Given the description of an element on the screen output the (x, y) to click on. 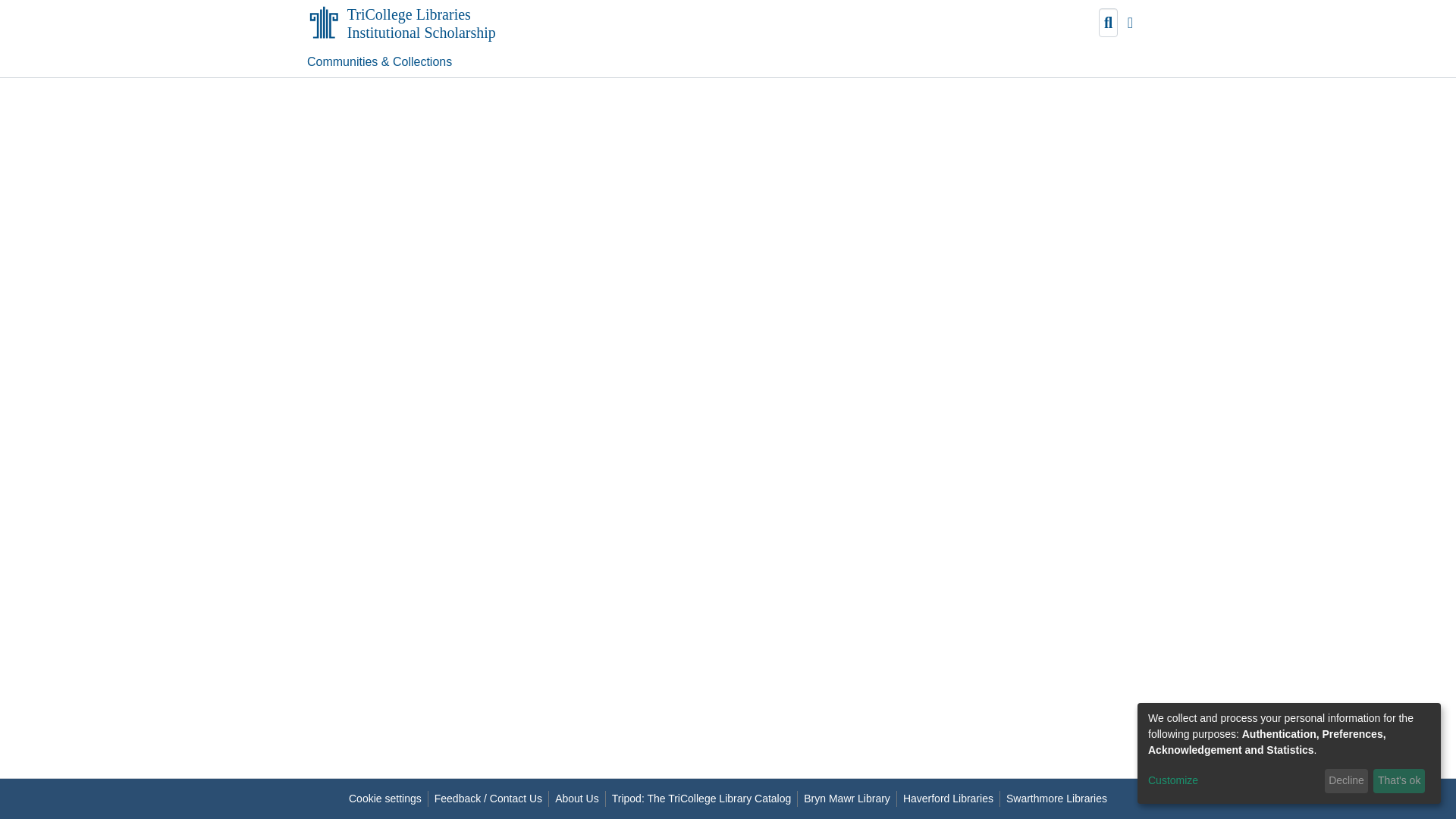
That's ok (1399, 781)
Search (1108, 23)
Customize (1233, 780)
About Us (576, 798)
Swarthmore Libraries (1056, 798)
Bryn Mawr Library (846, 798)
Tripod: The TriCollege Library Catalog (701, 798)
Decline (1346, 781)
Cookie settings (385, 798)
Language switch (1130, 23)
